Given the description of an element on the screen output the (x, y) to click on. 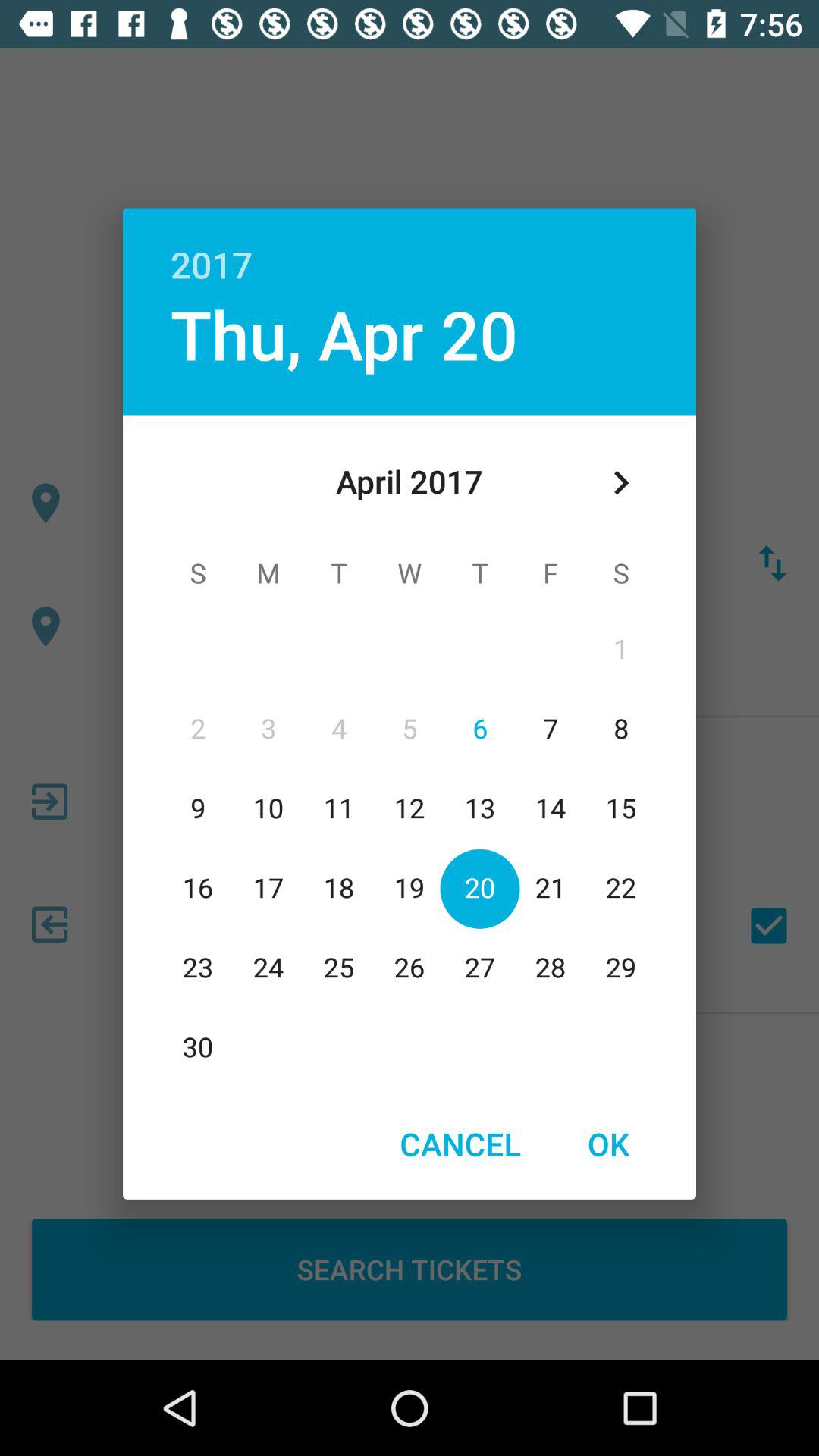
turn off item to the left of the ok (459, 1143)
